Given the description of an element on the screen output the (x, y) to click on. 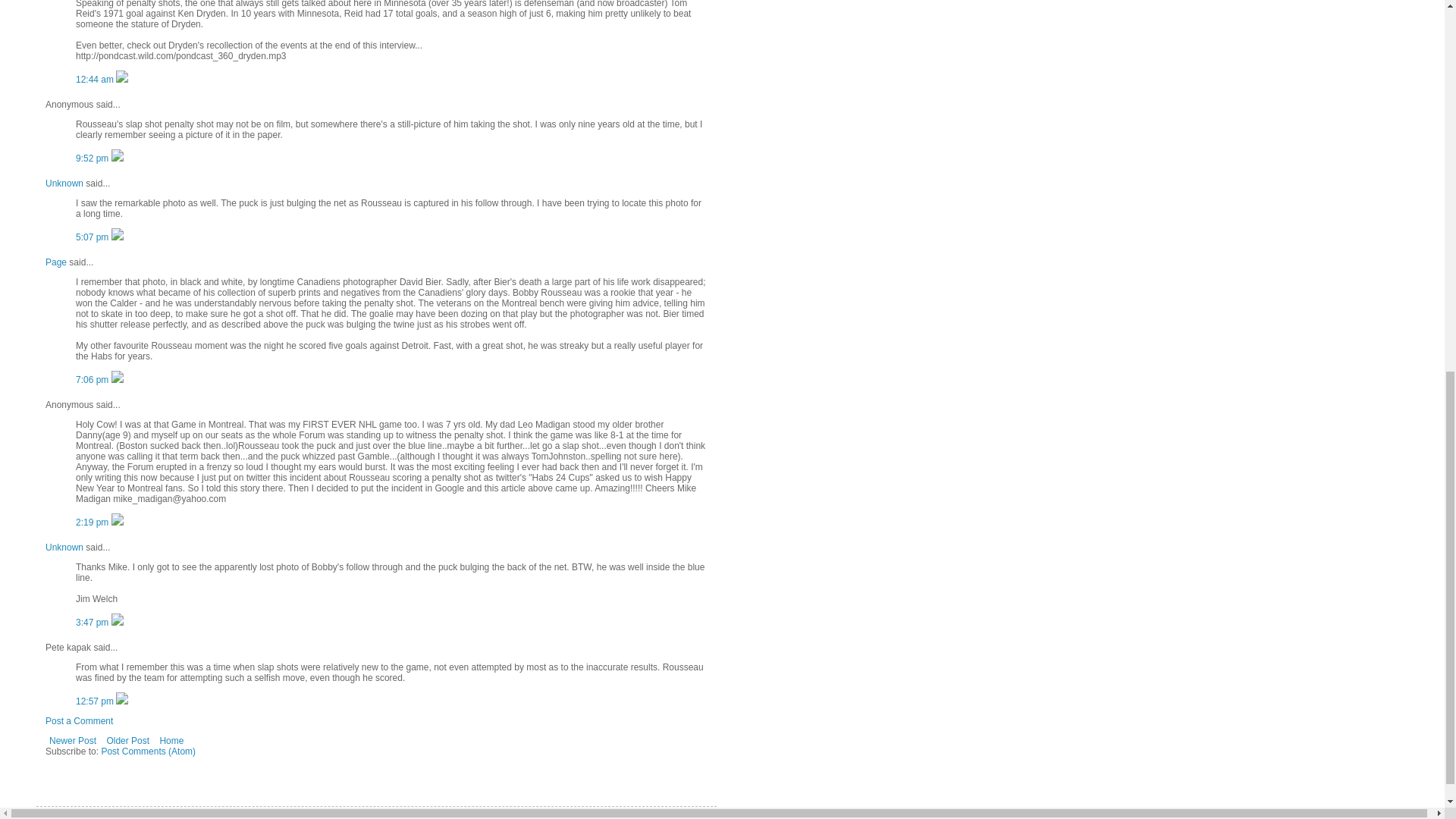
comment permalink (93, 379)
Delete Comment (117, 236)
comment permalink (93, 236)
Delete Comment (117, 158)
comment permalink (93, 158)
12:44 am (95, 79)
comment permalink (95, 79)
Delete Comment (122, 79)
